Given the description of an element on the screen output the (x, y) to click on. 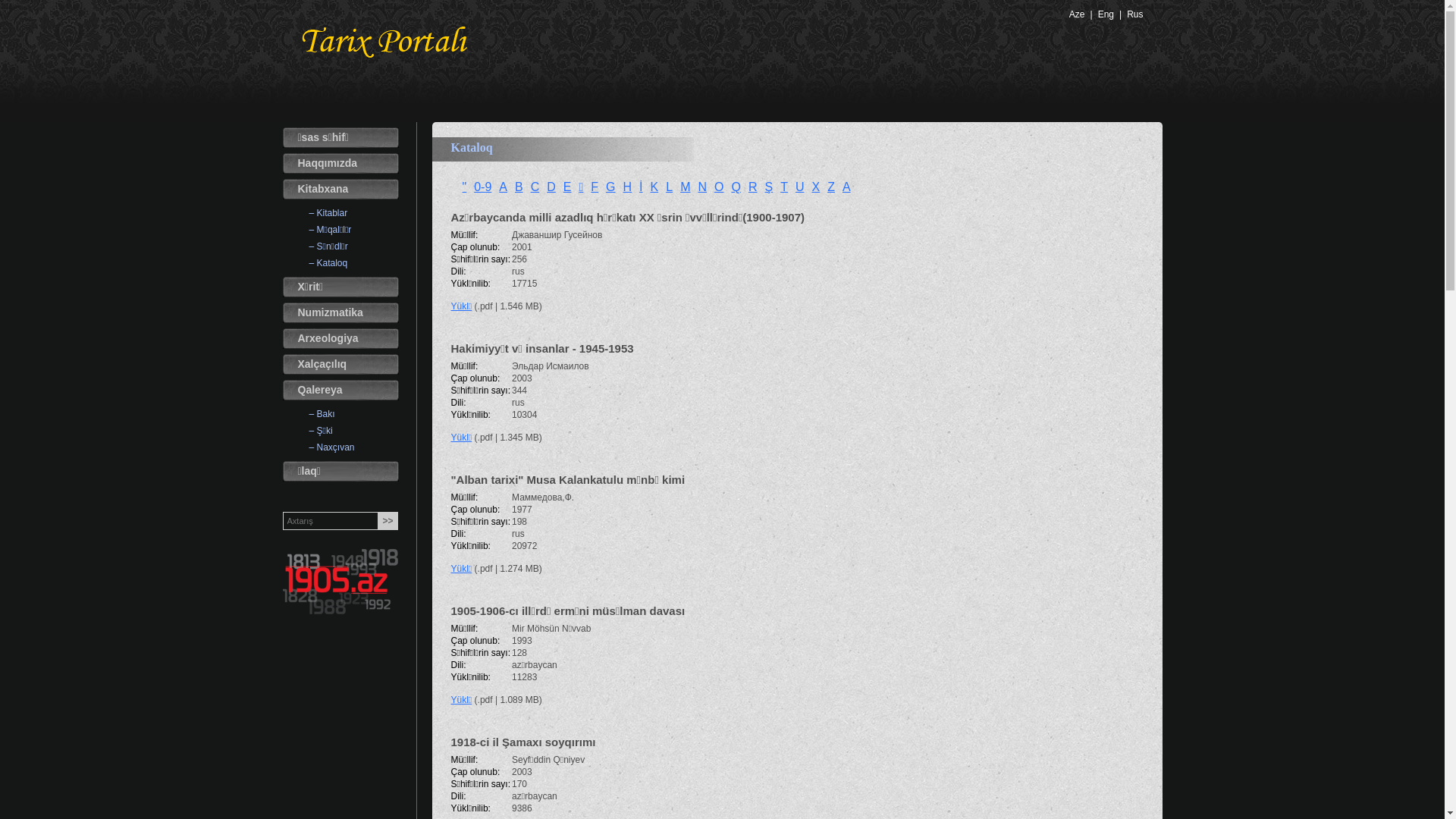
Arxeologiya Element type: text (340, 338)
M Element type: text (685, 186)
Z Element type: text (830, 186)
A Element type: text (502, 186)
" Element type: text (464, 186)
E Element type: text (567, 186)
D Element type: text (550, 186)
Numizmatika Element type: text (340, 312)
U Element type: text (799, 186)
Eng Element type: text (1105, 14)
Q Element type: text (735, 186)
N Element type: text (701, 186)
Aze Element type: text (1077, 14)
0-9 Element type: text (482, 186)
B Element type: text (518, 186)
C Element type: text (534, 186)
F Element type: text (594, 186)
Qalereya Element type: text (340, 389)
>> Element type: text (387, 520)
Rus Element type: text (1134, 14)
Kitabxana Element type: text (340, 188)
L Element type: text (668, 186)
X Element type: text (815, 186)
H Element type: text (627, 186)
K Element type: text (654, 186)
O Element type: text (718, 186)
R Element type: text (752, 186)
G Element type: text (610, 186)
T Element type: text (783, 186)
